Given the description of an element on the screen output the (x, y) to click on. 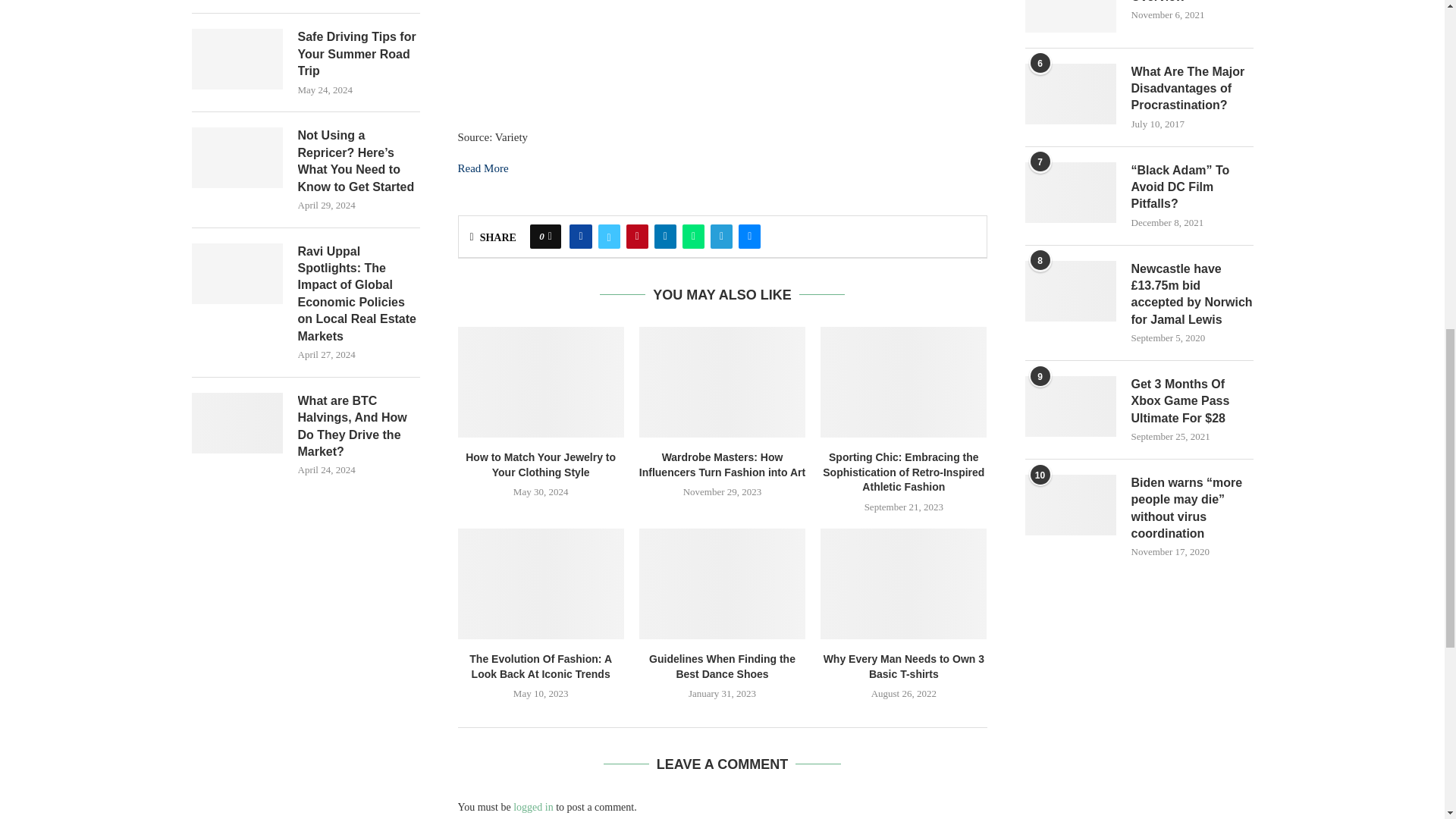
YouTube video player (681, 54)
How to Match Your Jewelry to Your Clothing Style (541, 381)
Guidelines When Finding the Best Dance Shoes (722, 583)
The Evolution Of Fashion: A Look Back At Iconic Trends (541, 583)
Why Every Man Needs to Own 3 Basic T-shirts (904, 583)
Wardrobe Masters: How Influencers Turn Fashion into Art (722, 381)
